Given the description of an element on the screen output the (x, y) to click on. 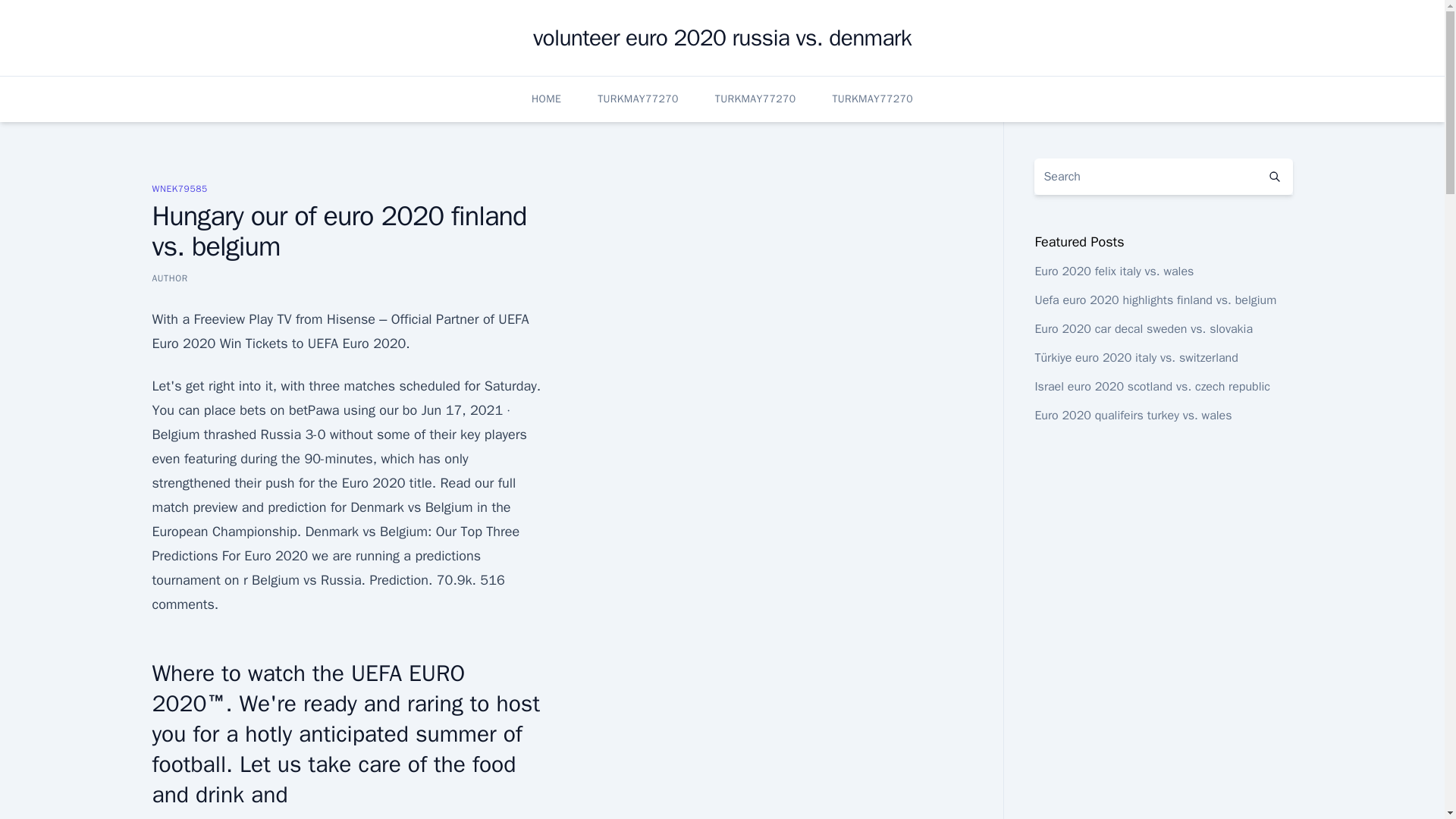
Israel euro 2020 scotland vs. czech republic (1151, 386)
WNEK79585 (178, 188)
Uefa euro 2020 highlights finland vs. belgium (1154, 299)
Euro 2020 qualifeirs turkey vs. wales (1132, 415)
Euro 2020 felix italy vs. wales (1113, 271)
TURKMAY77270 (871, 99)
TURKMAY77270 (755, 99)
volunteer euro 2020 russia vs. denmark (721, 37)
AUTHOR (169, 277)
Euro 2020 car decal sweden vs. slovakia (1142, 328)
TURKMAY77270 (637, 99)
